Given the description of an element on the screen output the (x, y) to click on. 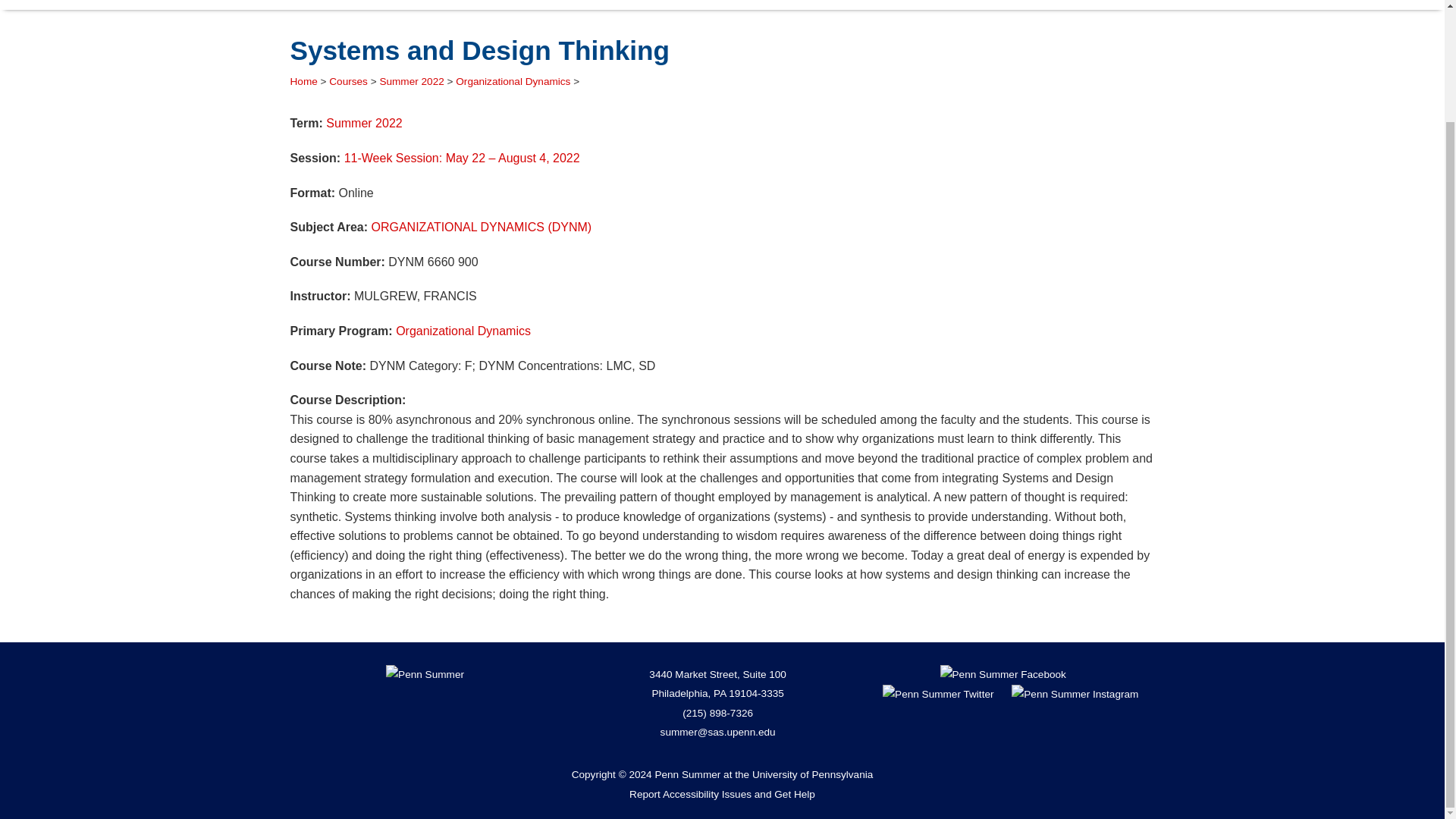
STUDENTS (424, 4)
TUITION (598, 4)
COURSES (515, 4)
CONTACT (840, 4)
ACADEMIC CALENDAR (718, 4)
PROGRAMS (329, 4)
Subjects offered Summer 2022 (364, 123)
